Given the description of an element on the screen output the (x, y) to click on. 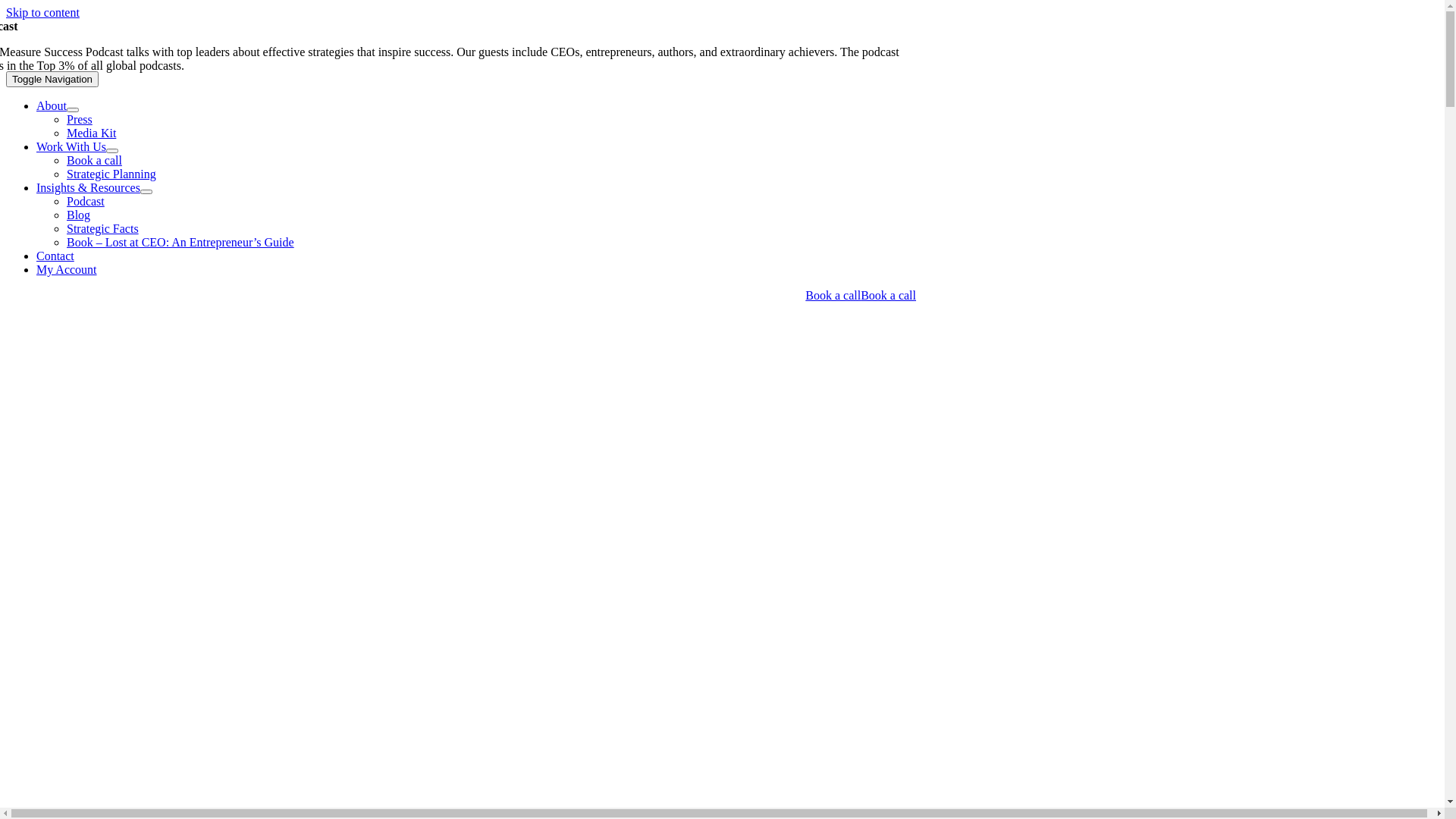
Strategic Facts Element type: text (102, 228)
My Account Element type: text (66, 269)
Book a call Element type: text (94, 159)
About Element type: text (51, 105)
Book a callBook a call Element type: text (461, 295)
Work With Us Element type: text (71, 146)
Press Element type: text (79, 118)
Blog Element type: text (78, 214)
Media Kit Element type: text (91, 132)
Podcast Element type: text (85, 200)
Toggle Navigation Element type: text (52, 79)
Skip to content Element type: text (42, 12)
Insights & Resources Element type: text (88, 187)
Contact Element type: text (55, 255)
Strategic Planning Element type: text (111, 173)
